Given the description of an element on the screen output the (x, y) to click on. 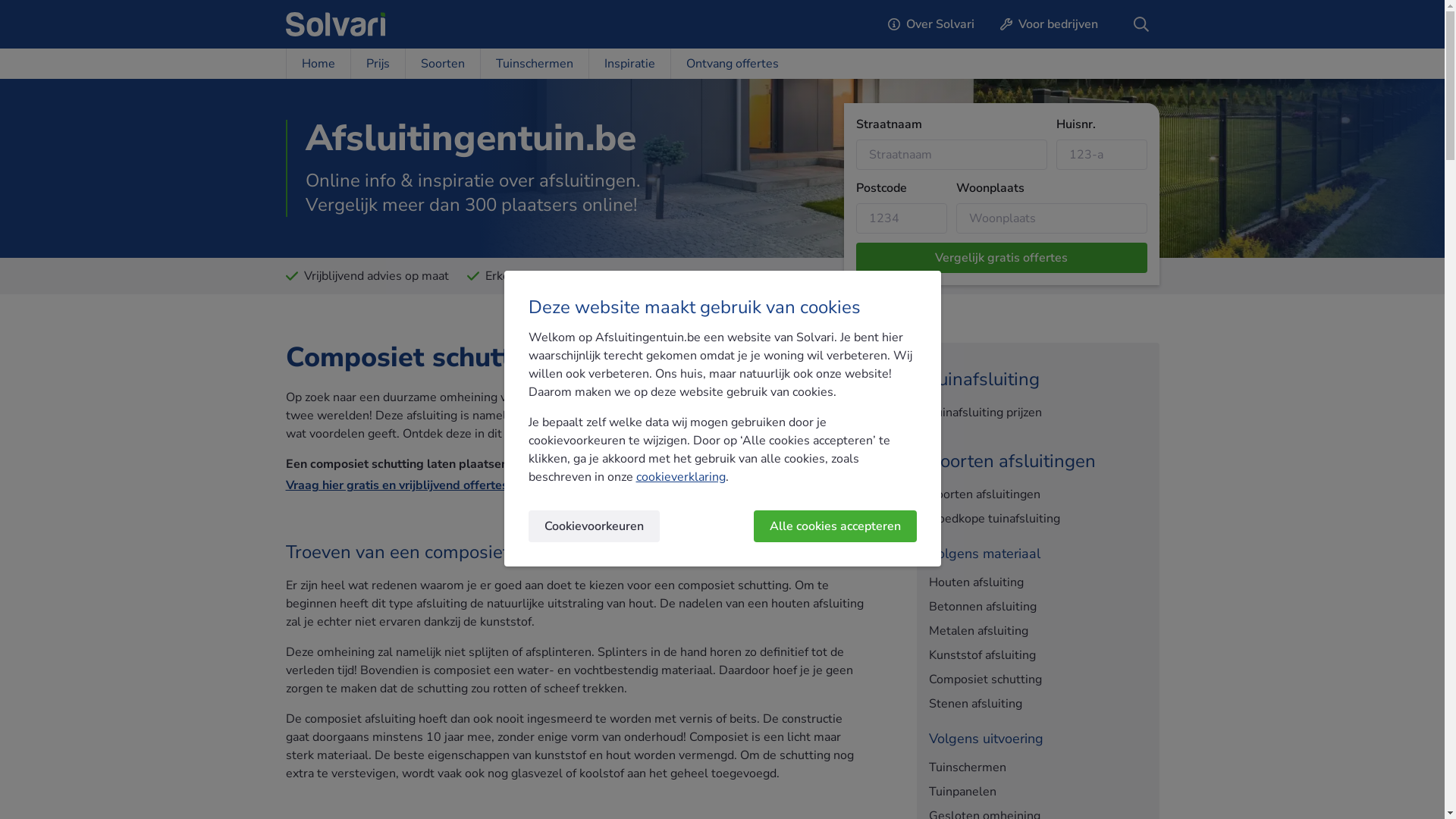
Stenen afsluiting Element type: text (1037, 703)
Ontvang offertes Element type: text (731, 63)
Soorten afsluitingen Element type: text (1037, 494)
Inspiratie Element type: text (629, 63)
Betonnen afsluiting Element type: text (1037, 606)
Cookievoorkeuren Element type: text (592, 526)
Prijs Element type: text (377, 63)
Tuinpanelen Element type: text (1037, 791)
Home Element type: text (317, 63)
Soorten Element type: text (442, 63)
Composiet schutting Element type: text (1037, 679)
Tuinafsluiting prijzen Element type: text (1037, 412)
Kunststof afsluiting Element type: text (1037, 655)
Houten afsluiting Element type: text (1037, 582)
Vergelijk gratis offertes Element type: text (1000, 257)
Voor bedrijven Element type: text (1048, 24)
cookieverklaring Element type: text (679, 476)
Over Solvari Element type: text (931, 24)
Goedkope tuinafsluiting Element type: text (1037, 518)
Metalen afsluiting Element type: text (1037, 630)
Alle cookies accepteren Element type: text (834, 526)
Tuinschermen Element type: text (533, 63)
Tuinschermen Element type: text (1037, 767)
